Given the description of an element on the screen output the (x, y) to click on. 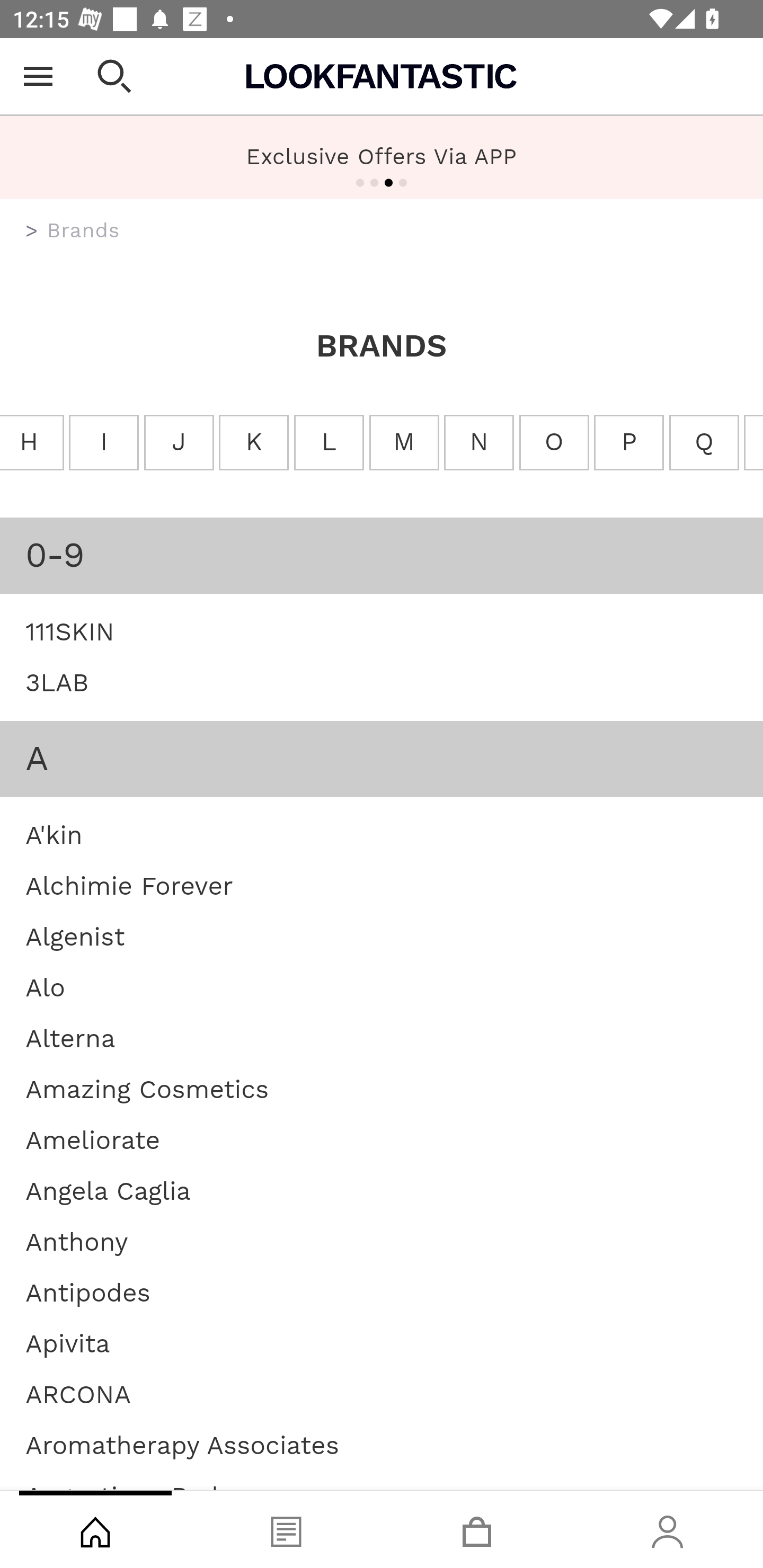
Open Menu (38, 75)
Open search (114, 75)
Lookfantastic USA (381, 75)
us.lookfantastic (32, 230)
H (32, 443)
I (103, 443)
J (178, 443)
K (253, 443)
L (327, 443)
M (404, 443)
N (479, 443)
O (553, 443)
P (628, 443)
Q (703, 443)
111SKIN (69, 630)
3LAB (57, 681)
A'kin (53, 833)
Alchimie Forever (129, 884)
Algenist (75, 935)
Alo (46, 986)
Alterna (70, 1037)
Amazing Cosmetics (147, 1087)
Ameliorate (92, 1139)
Angela Caglia (108, 1189)
Anthony (76, 1240)
Antipodes (88, 1291)
Apivita (68, 1342)
ARCONA (78, 1393)
Aromatherapy Associates (182, 1443)
Shop, tab, 1 of 4 (95, 1529)
Blog, tab, 2 of 4 (285, 1529)
Basket, tab, 3 of 4 (476, 1529)
Account, tab, 4 of 4 (667, 1529)
